Given the description of an element on the screen output the (x, y) to click on. 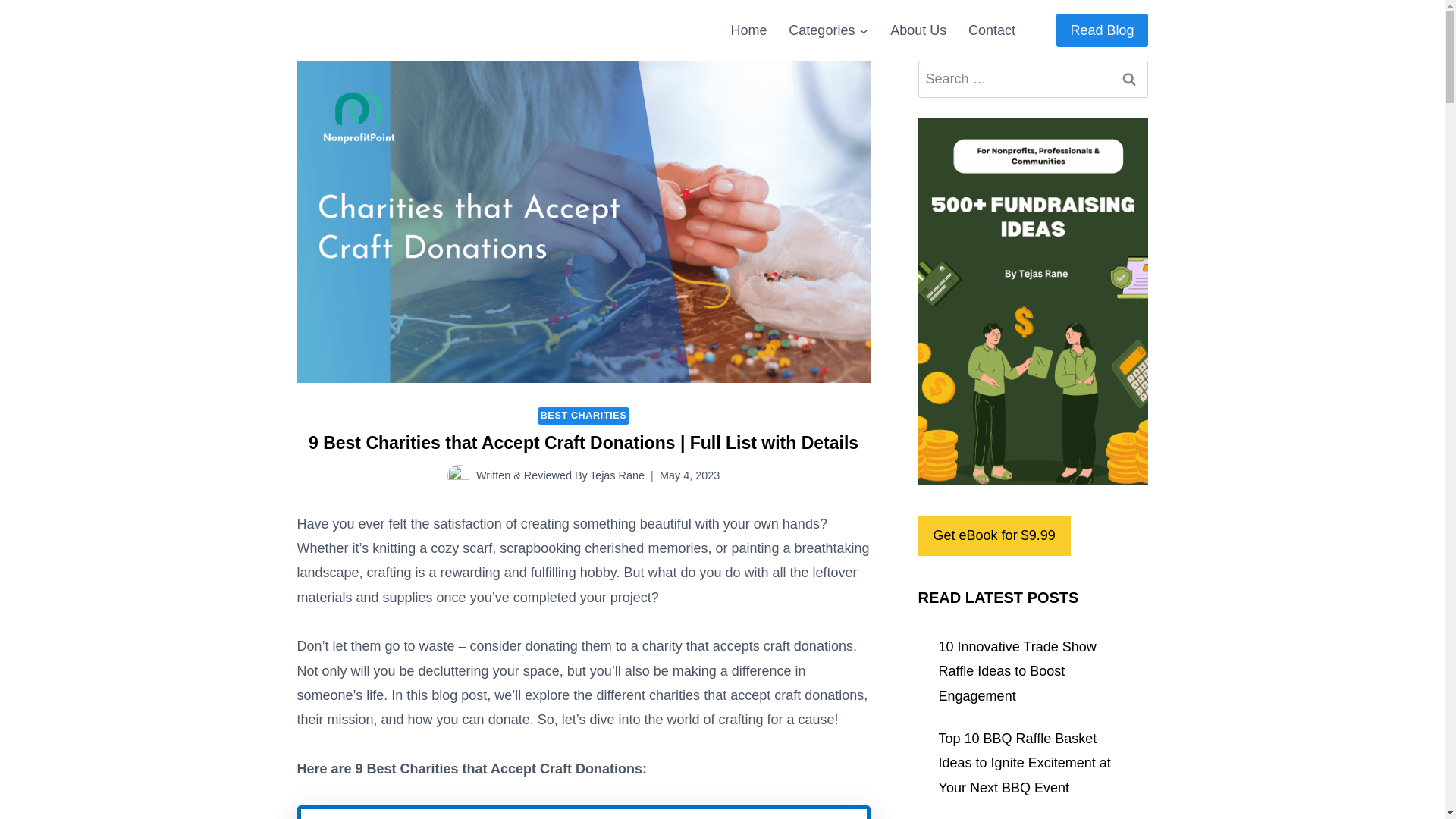
Search (1128, 78)
Categories (828, 29)
Contact (992, 29)
BEST CHARITIES (583, 416)
Search (1128, 78)
Tejas Rane (617, 475)
About Us (918, 29)
Home (748, 29)
Read Blog (1102, 29)
